Given the description of an element on the screen output the (x, y) to click on. 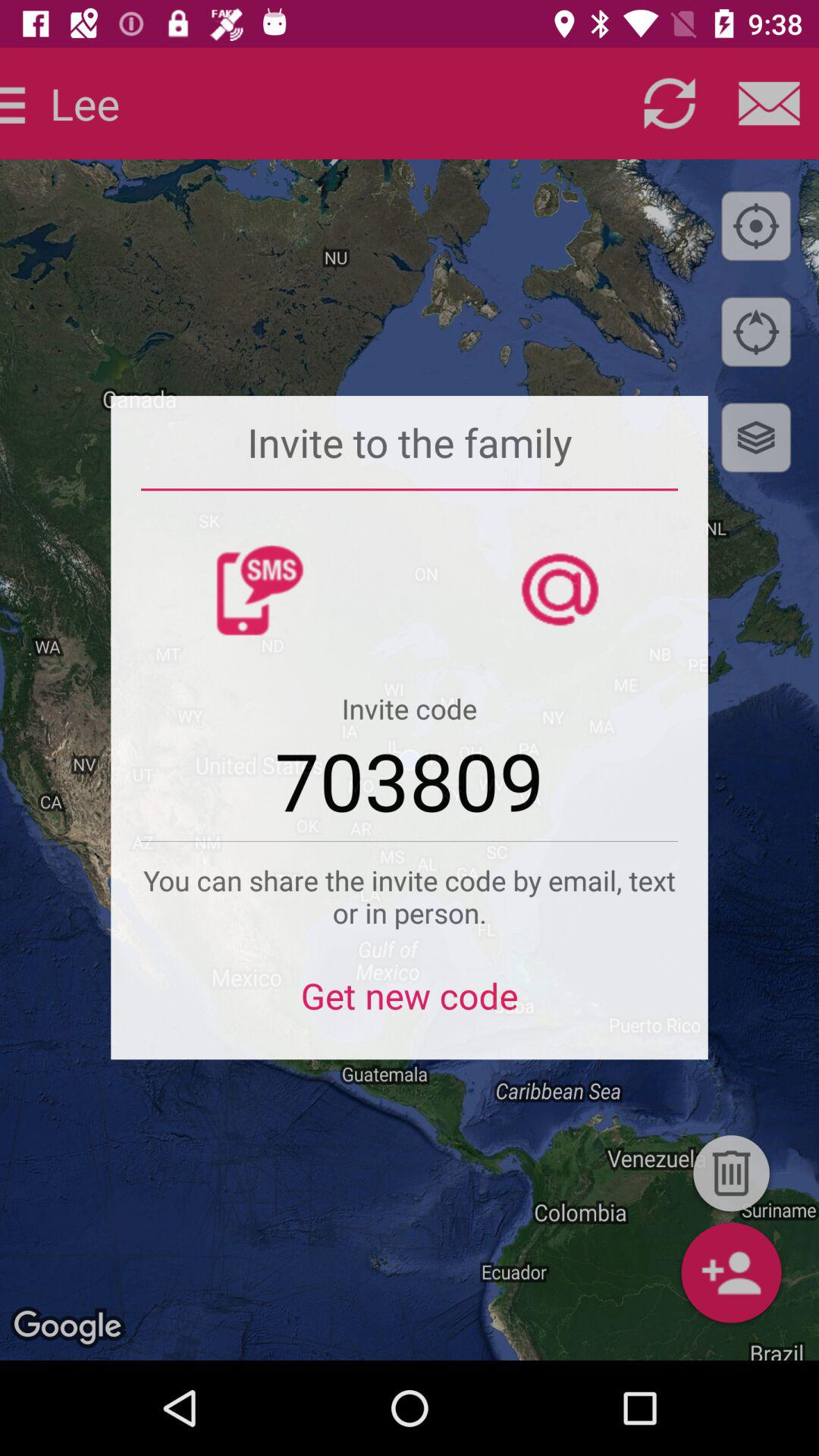
open messages (769, 103)
